Given the description of an element on the screen output the (x, y) to click on. 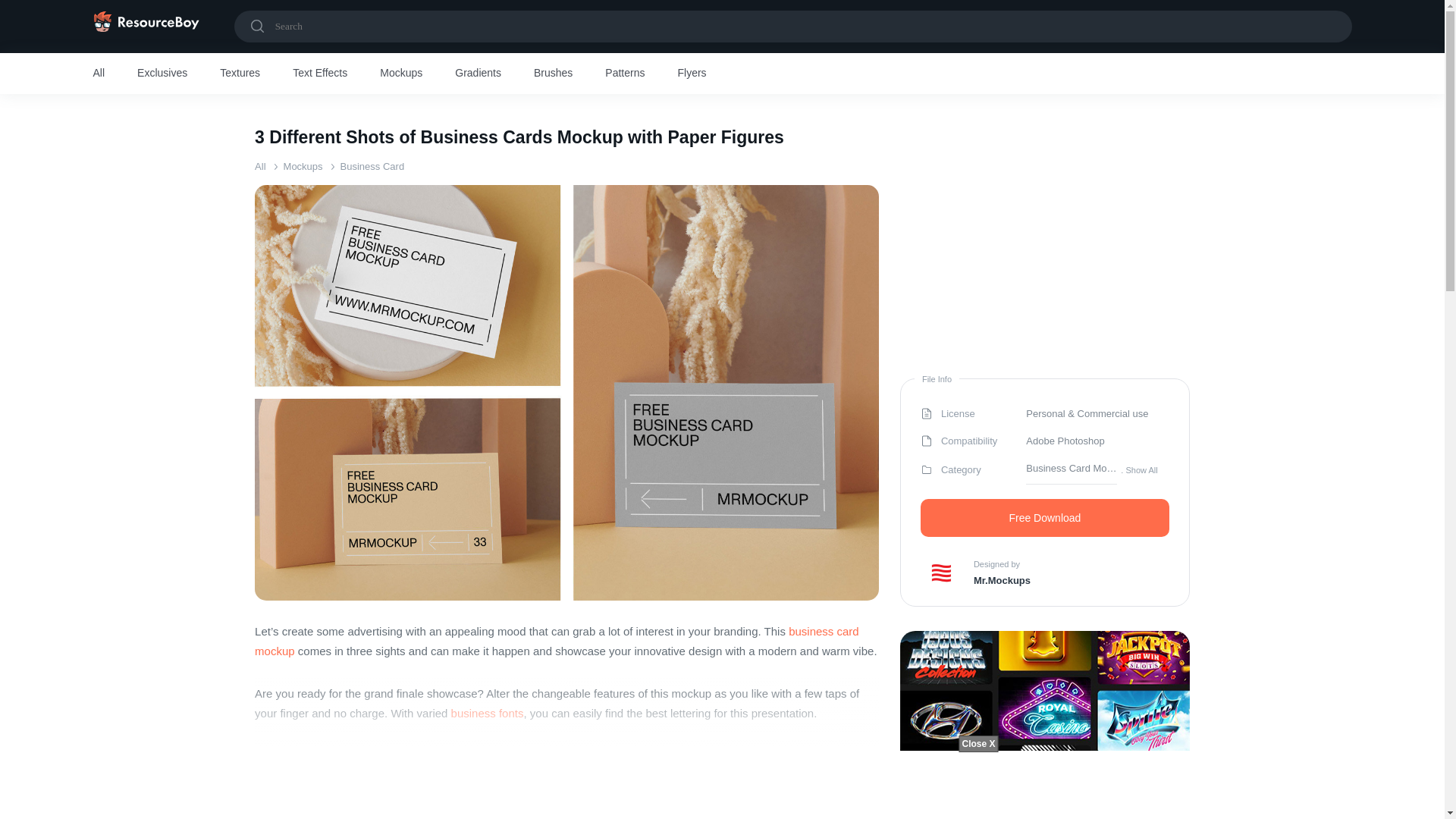
Mr.Mockups (1002, 580)
business fonts (487, 712)
Free Download (1044, 517)
Patterns (625, 73)
All (259, 165)
Exclusives (161, 73)
Show More (566, 770)
Gradients (477, 73)
Brushes (553, 73)
Textures (239, 73)
. Show All (1139, 469)
business card mockup (556, 640)
3rd party ad content (721, 785)
Text Effects (319, 73)
Business Card (372, 165)
